Given the description of an element on the screen output the (x, y) to click on. 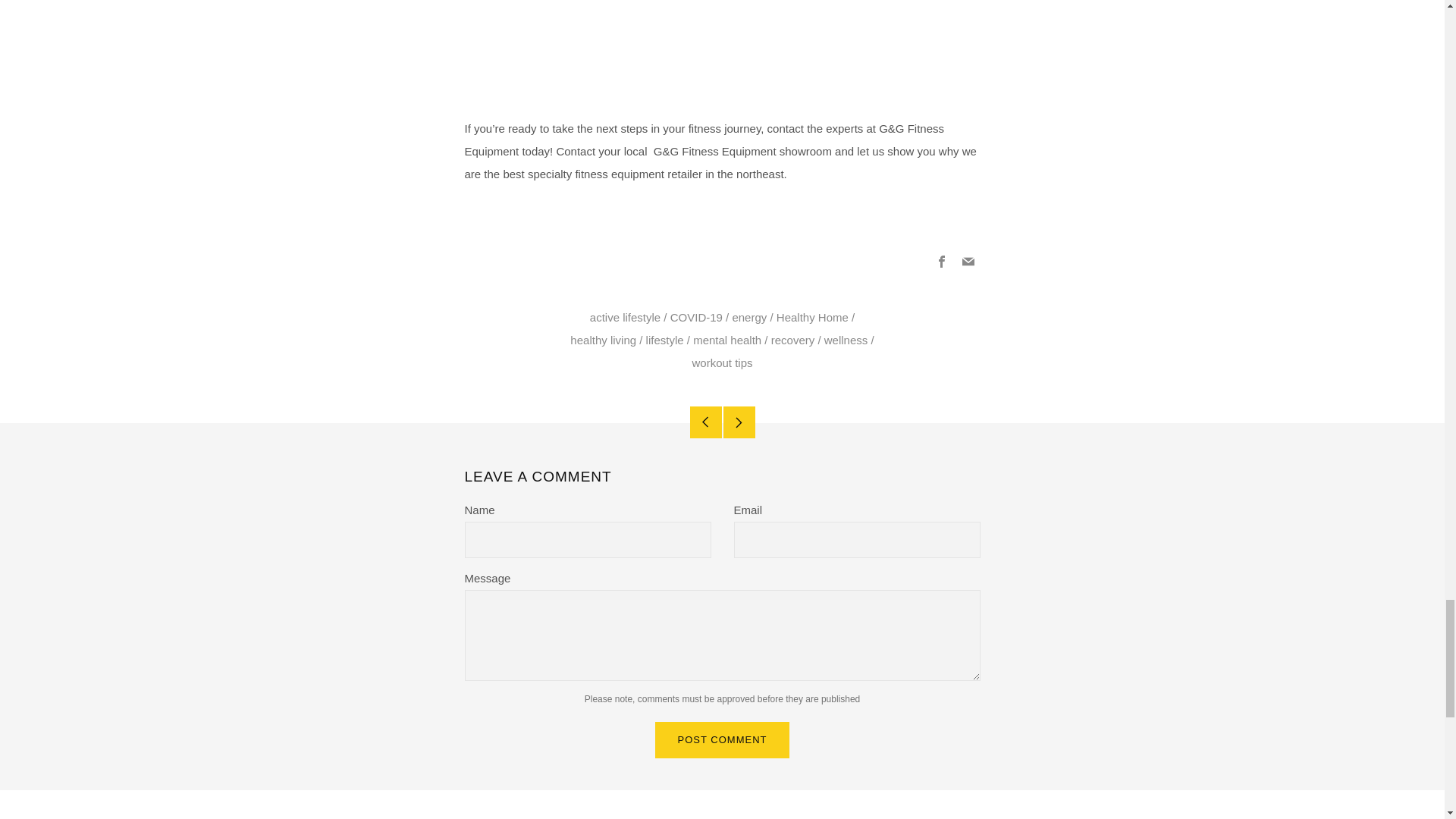
Show articles tagged energy (749, 317)
Show articles tagged lifestyle (665, 339)
Show articles tagged healthy living (603, 339)
Show articles tagged mental health (727, 339)
Show articles tagged wellness (845, 339)
Post comment (722, 739)
Show articles tagged Healthy Home (812, 317)
Show articles tagged workout tips (721, 362)
Show articles tagged COVID-19 (695, 317)
Show articles tagged recovery (793, 339)
Show articles tagged active lifestyle (625, 317)
